Given the description of an element on the screen output the (x, y) to click on. 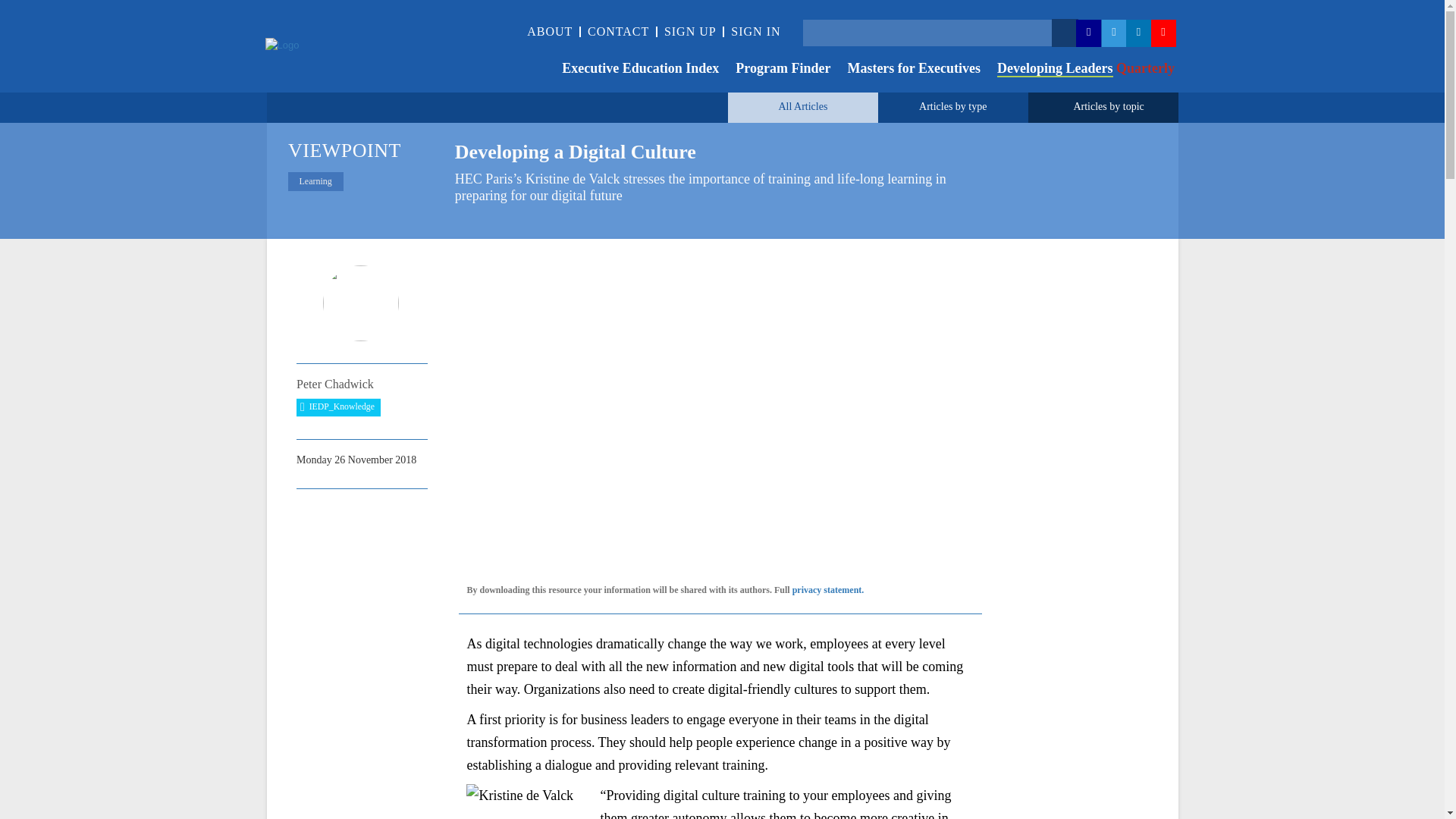
Masters for Executives (904, 70)
Program Finder (774, 70)
ABOUT (549, 31)
SIGN IN (755, 31)
Articles by topic (1107, 106)
print (368, 510)
SIGN UP (689, 31)
CONTACT (618, 31)
Executive Education Index (631, 70)
All Articles (802, 106)
Developing Leaders Quarterly (1076, 70)
Articles by type (952, 106)
